Given the description of an element on the screen output the (x, y) to click on. 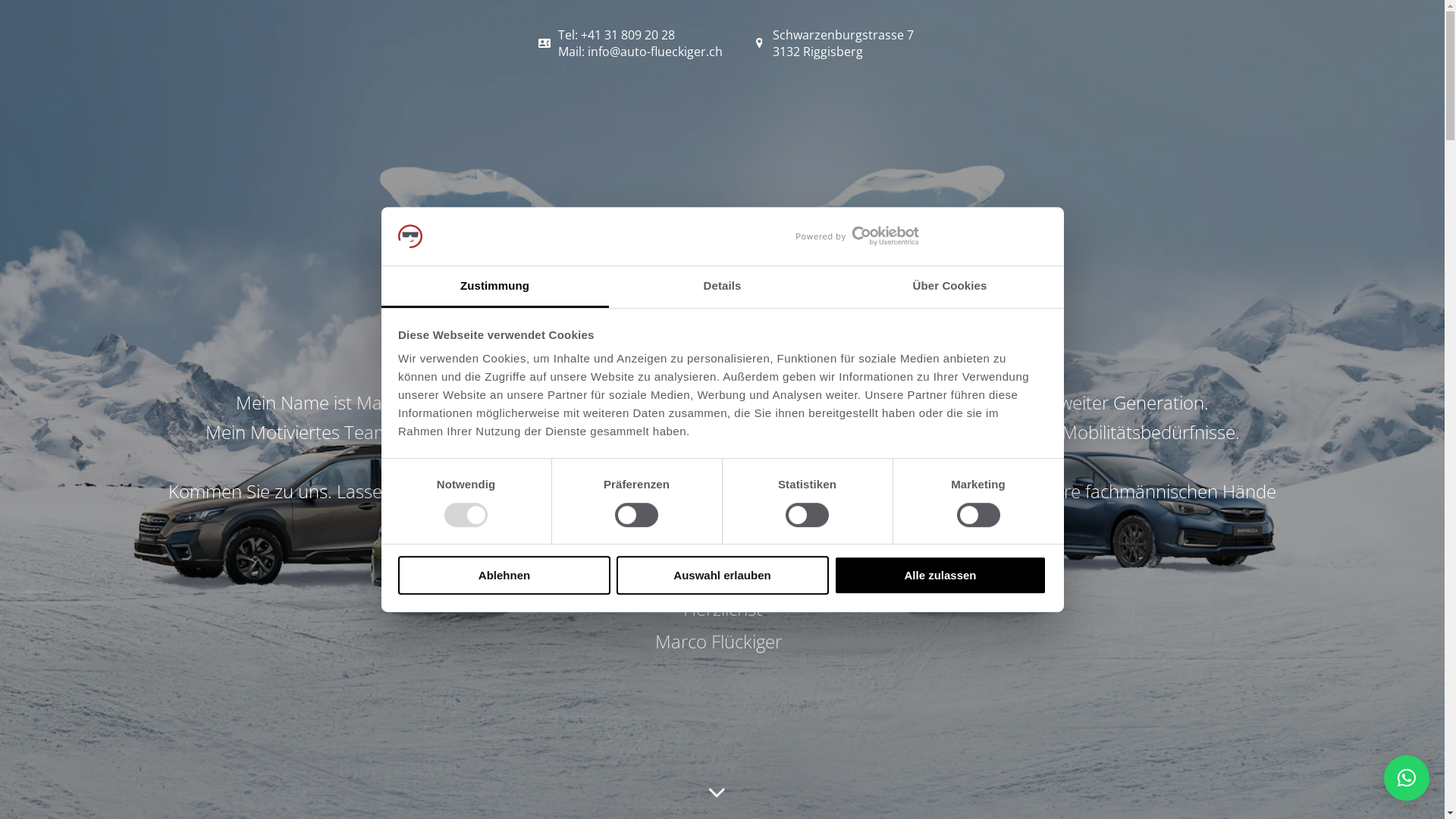
Impresum Element type: text (722, 769)
Schwarzenburgstrasse 7
3132 Riggisberg Element type: text (829, 42)
Alle zulassen Element type: text (940, 574)
Details Element type: text (721, 287)
Ablehnen Element type: text (504, 574)
Zustimmung Element type: text (494, 287)
Datenschutz Element type: text (1033, 769)
Auswahl erlauben Element type: text (721, 574)
